Given the description of an element on the screen output the (x, y) to click on. 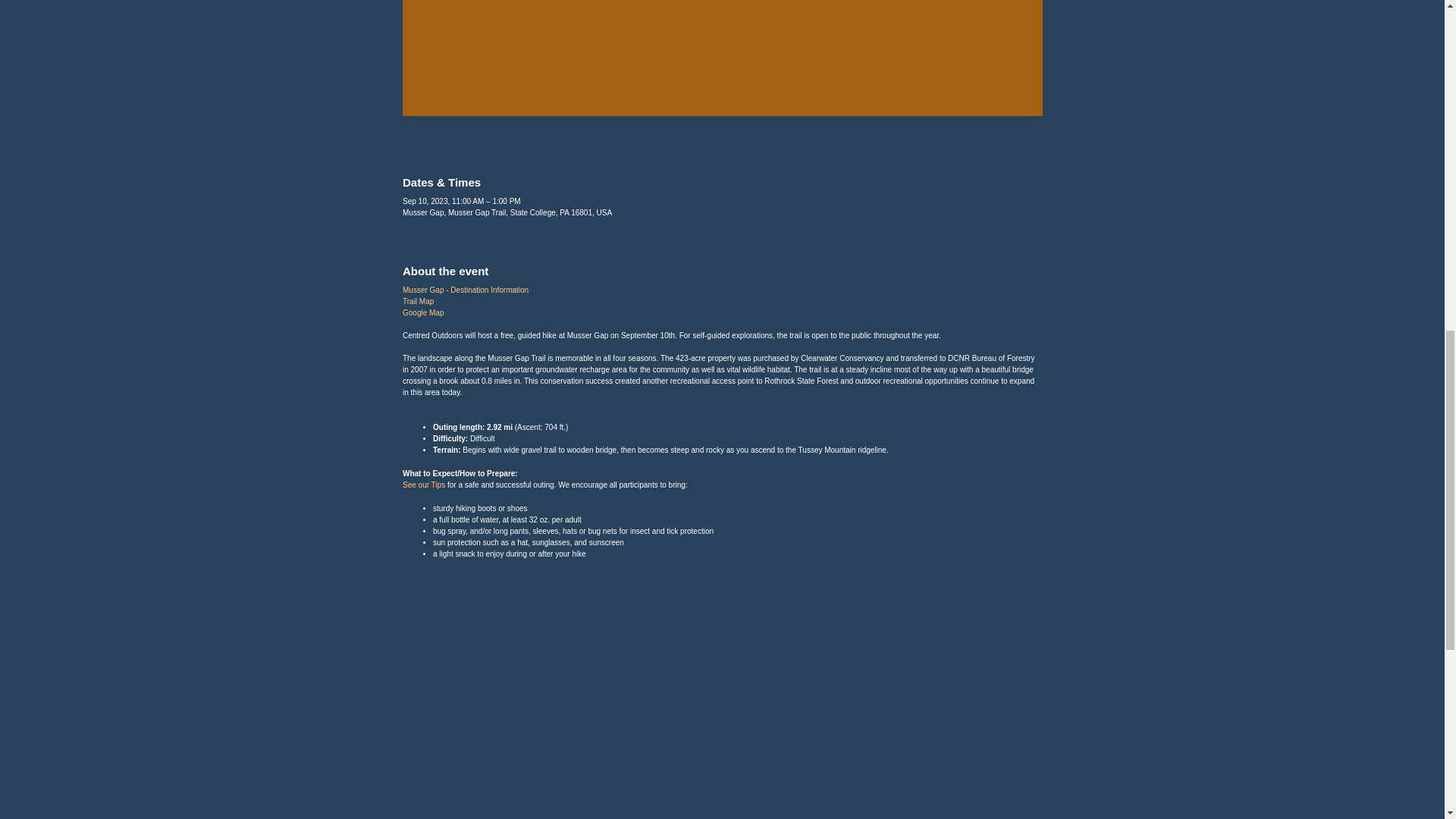
See our Tips (424, 484)
Google Map (423, 312)
Musser Gap - Destination Information (465, 289)
Trail Map (418, 301)
